Given the description of an element on the screen output the (x, y) to click on. 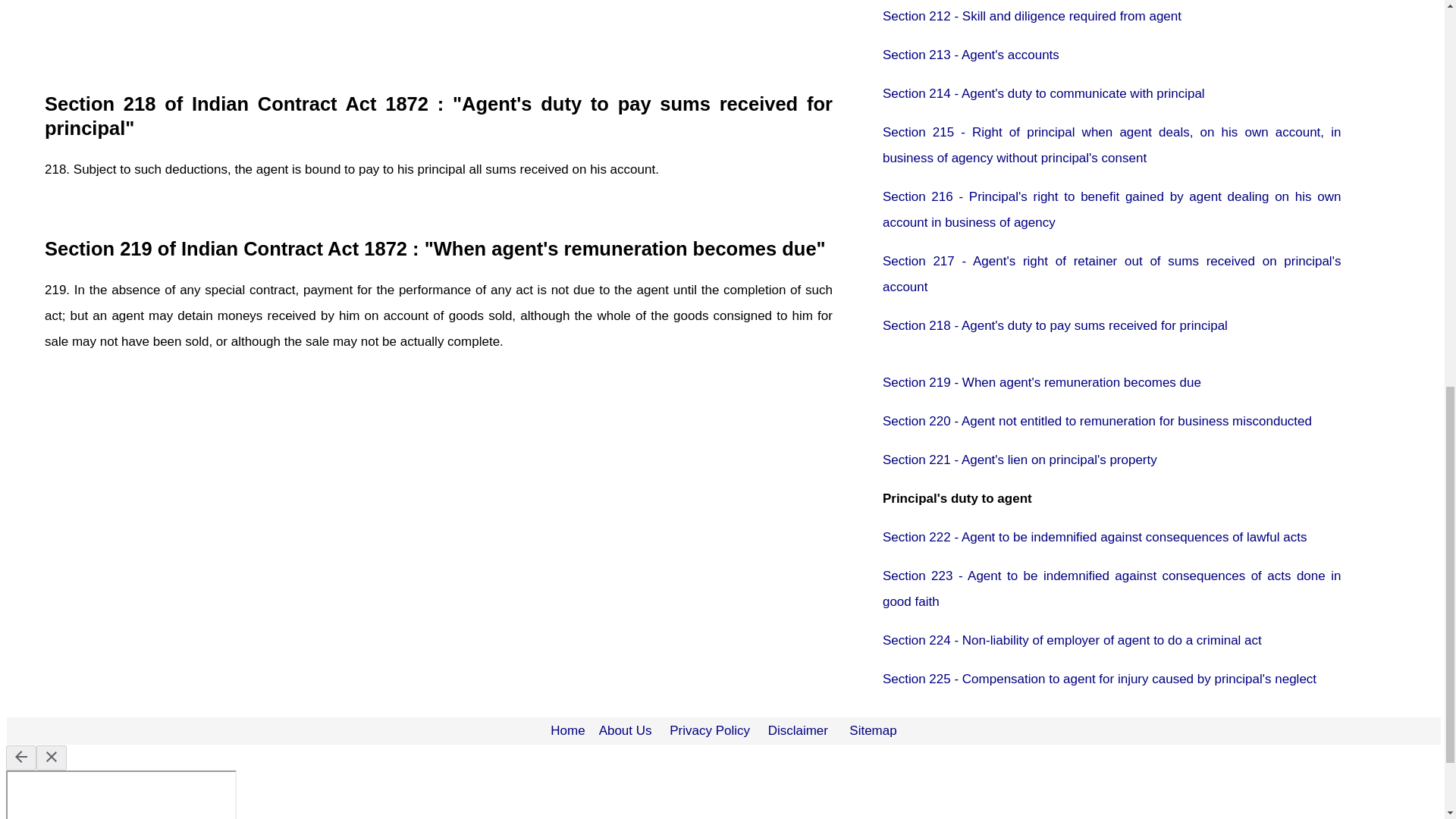
Home (567, 730)
Disclaimer (798, 730)
About Us (625, 730)
Section 213 - Agent's accounts (970, 54)
Section 221 - Agent's lien on principal's property (1019, 459)
Section 219 - When agent's remuneration becomes due (1041, 382)
Advertisement (438, 33)
